Given the description of an element on the screen output the (x, y) to click on. 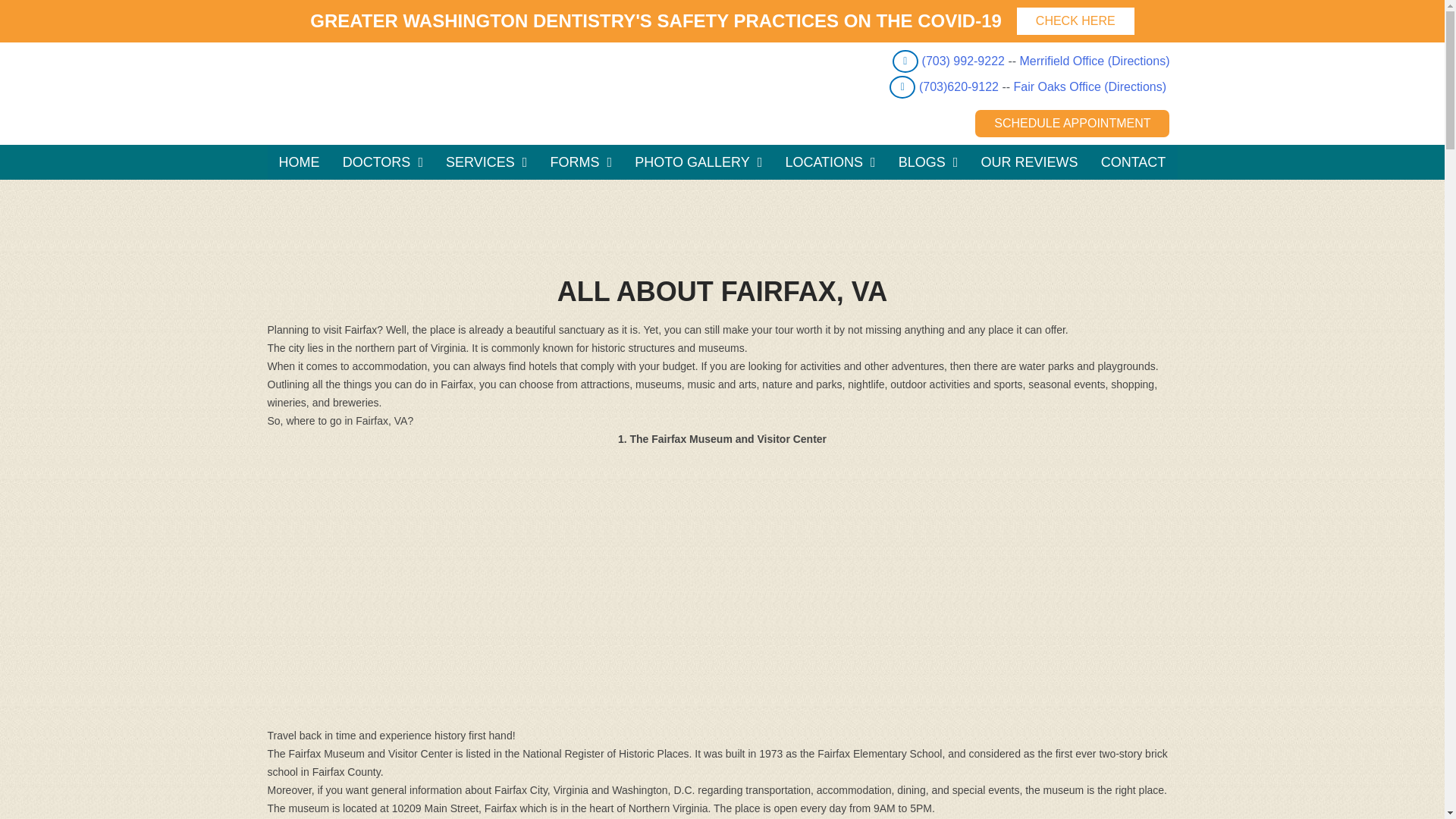
SCHEDULE APPOINTMENT (1072, 123)
SERVICES (485, 161)
CHECK HERE (1075, 21)
HOME (298, 161)
DOCTORS (382, 161)
